Given the description of an element on the screen output the (x, y) to click on. 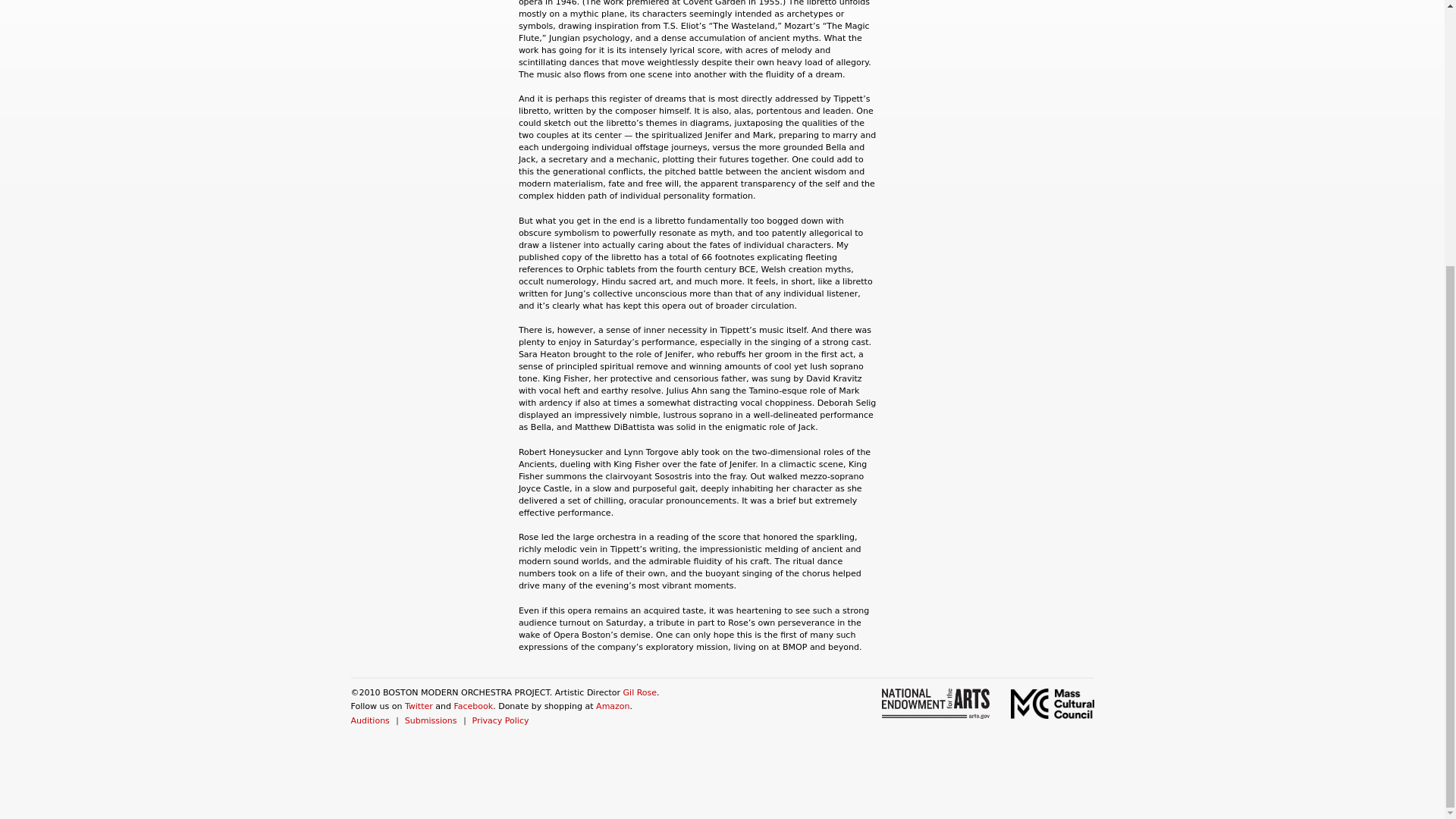
Auditions (369, 720)
Privacy Policy (500, 720)
Gil Rose (640, 692)
Submissions (430, 720)
Amazon (611, 706)
Facebook (472, 706)
Twitter (418, 706)
